Given the description of an element on the screen output the (x, y) to click on. 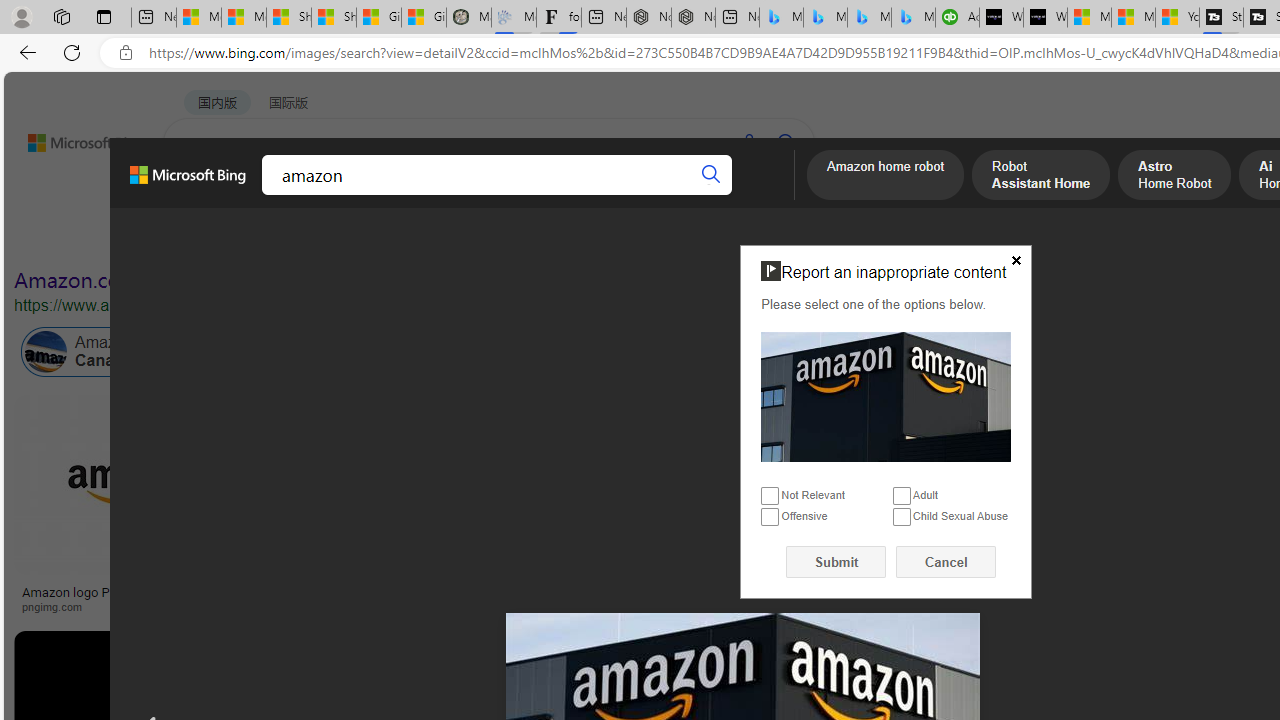
Amazon Kids (422, 351)
Kindle Paperwhite Case (1183, 524)
IMAGES (274, 195)
Accounting Software for Accountants, CPAs and Bookkeepers (957, 17)
DICT (630, 195)
Two Reasons Why Retailers Need to Leverage Amazon (396, 598)
Microsoft Bing Travel - Shangri-La Hotel Bangkok (913, 17)
People (521, 237)
What's the best AI voice generator? - voice.ai (1045, 17)
aiophotoz.com (983, 606)
Microsoft Bing, Back to Bing search (188, 183)
Nordace - #1 Japanese Best-Seller - Siena Smart Backpack (693, 17)
